Given the description of an element on the screen output the (x, y) to click on. 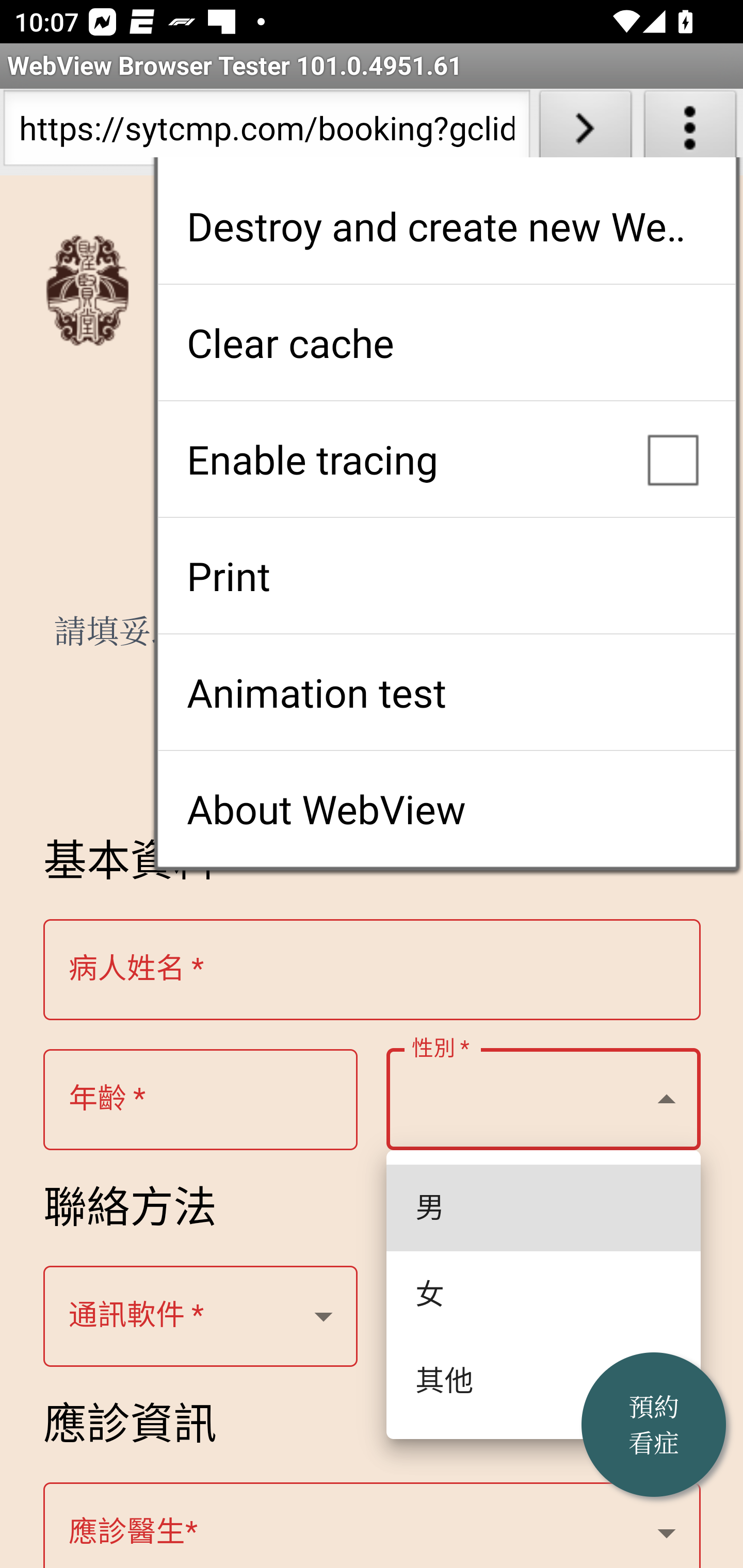
Destroy and create new WebView (446, 225)
Clear cache (446, 342)
Enable tracing (446, 459)
Print (446, 575)
Animation test (446, 692)
About WebView (446, 809)
